Given the description of an element on the screen output the (x, y) to click on. 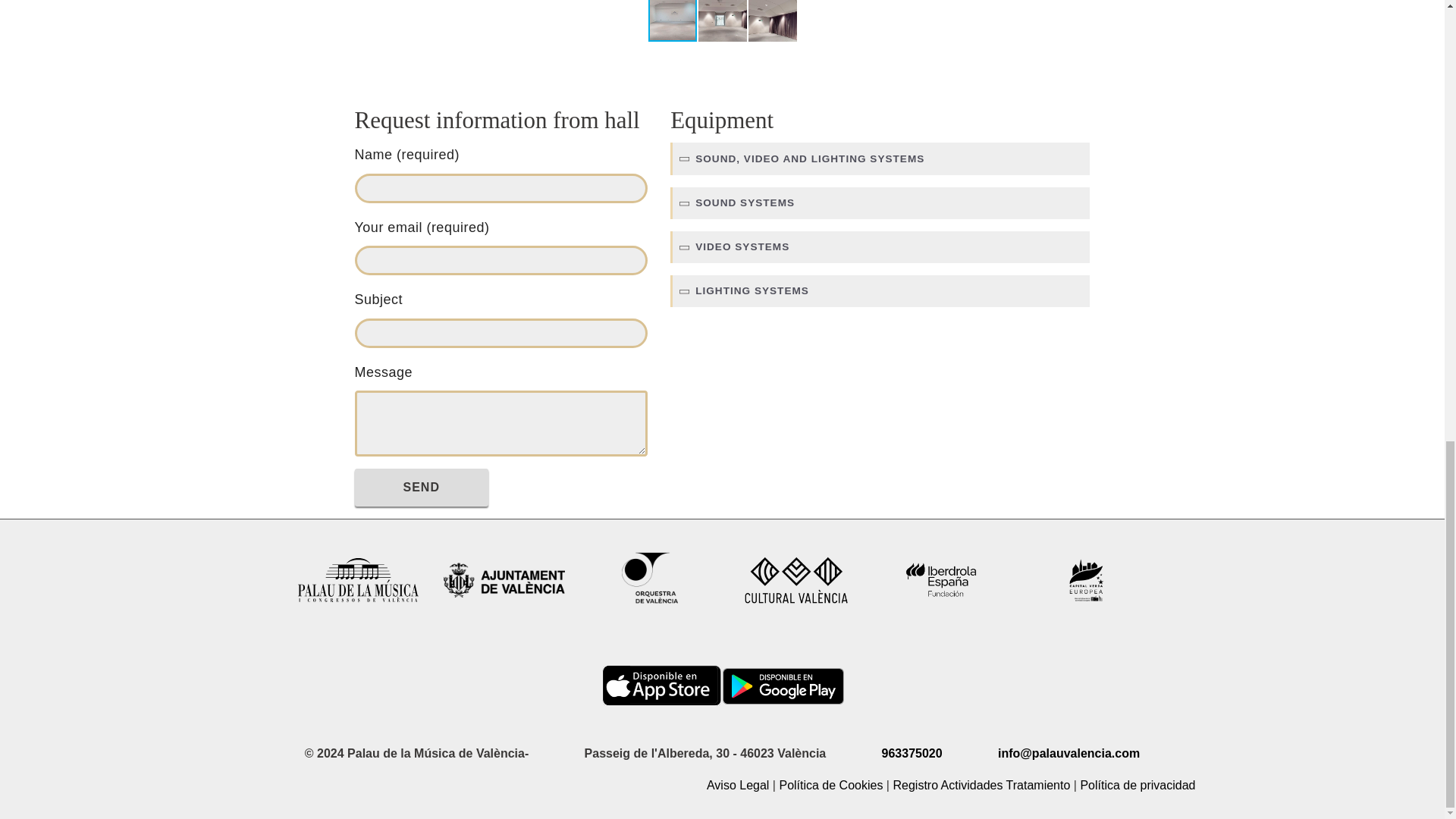
Send (421, 487)
